Given the description of an element on the screen output the (x, y) to click on. 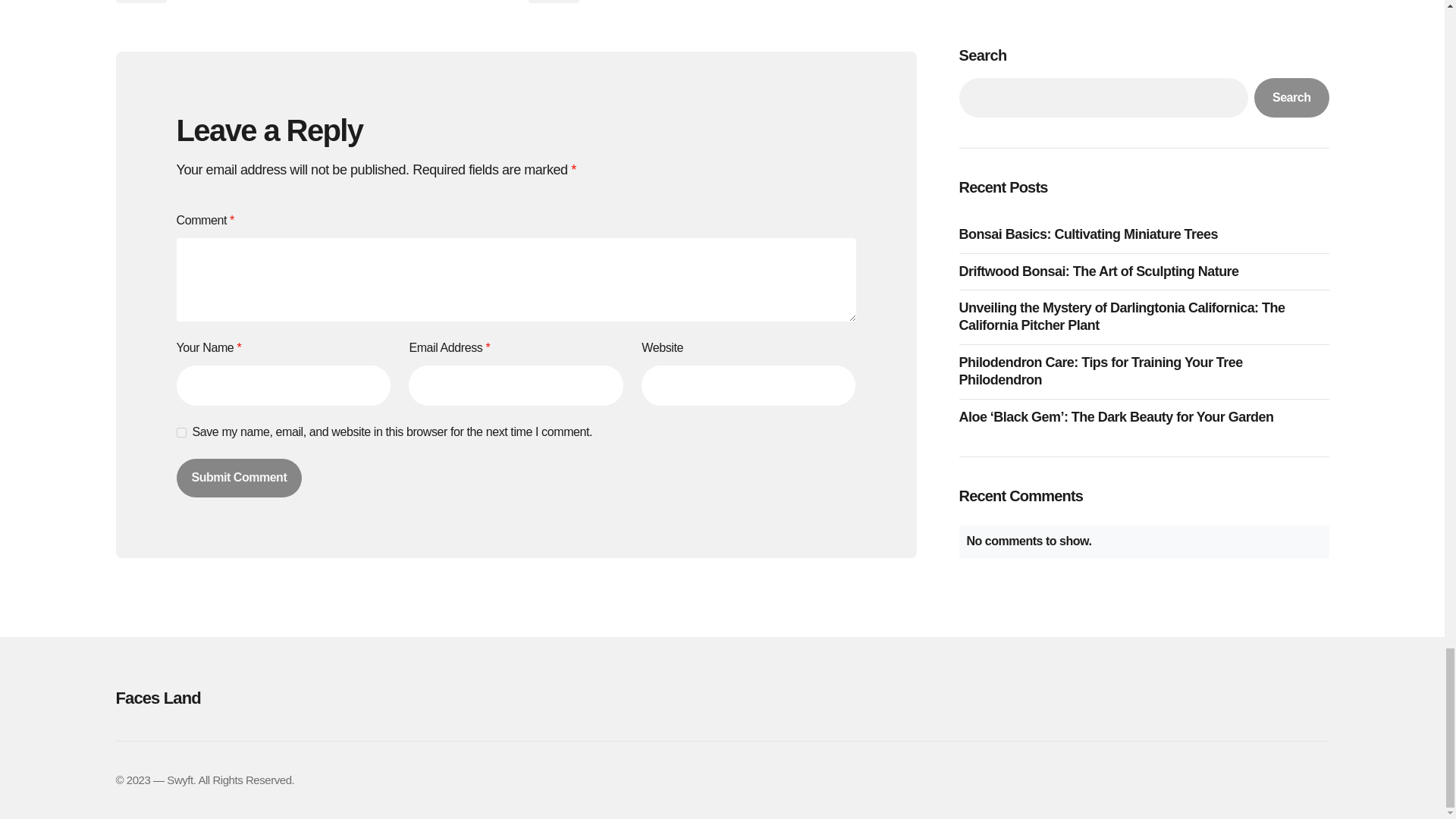
Submit Comment (238, 477)
Faces Land (305, 697)
Bonsai (552, 1)
yes (181, 432)
Bonsai (140, 1)
